Given the description of an element on the screen output the (x, y) to click on. 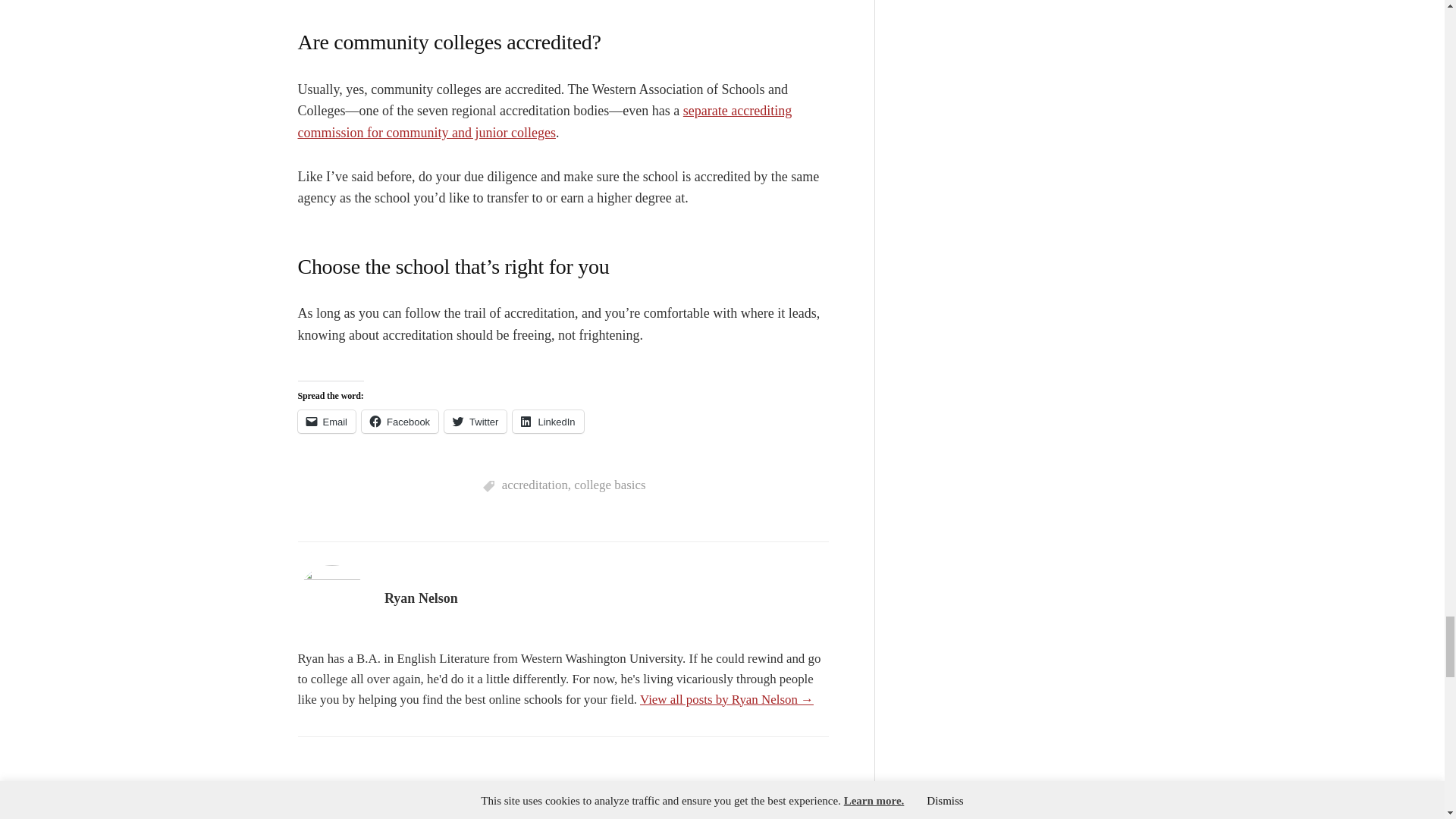
Click to email a link to a friend (326, 421)
Click to share on Facebook (399, 421)
Click to share on Twitter (475, 421)
Click to share on LinkedIn (547, 421)
